Given the description of an element on the screen output the (x, y) to click on. 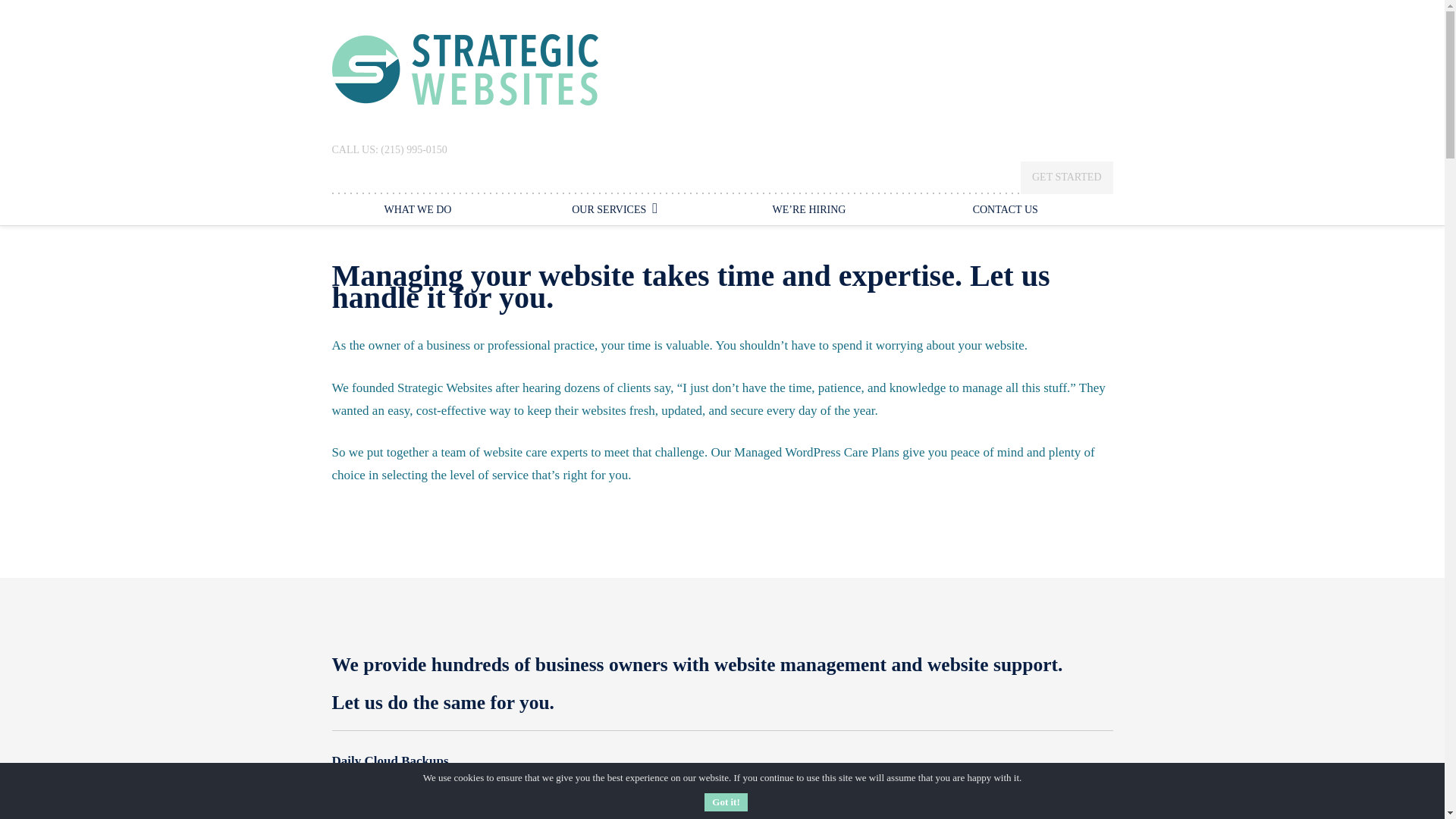
OUR SERVICES (614, 209)
GET STARTED (1066, 177)
CONTACT US (1002, 210)
WHAT WE DO (419, 210)
